Given the description of an element on the screen output the (x, y) to click on. 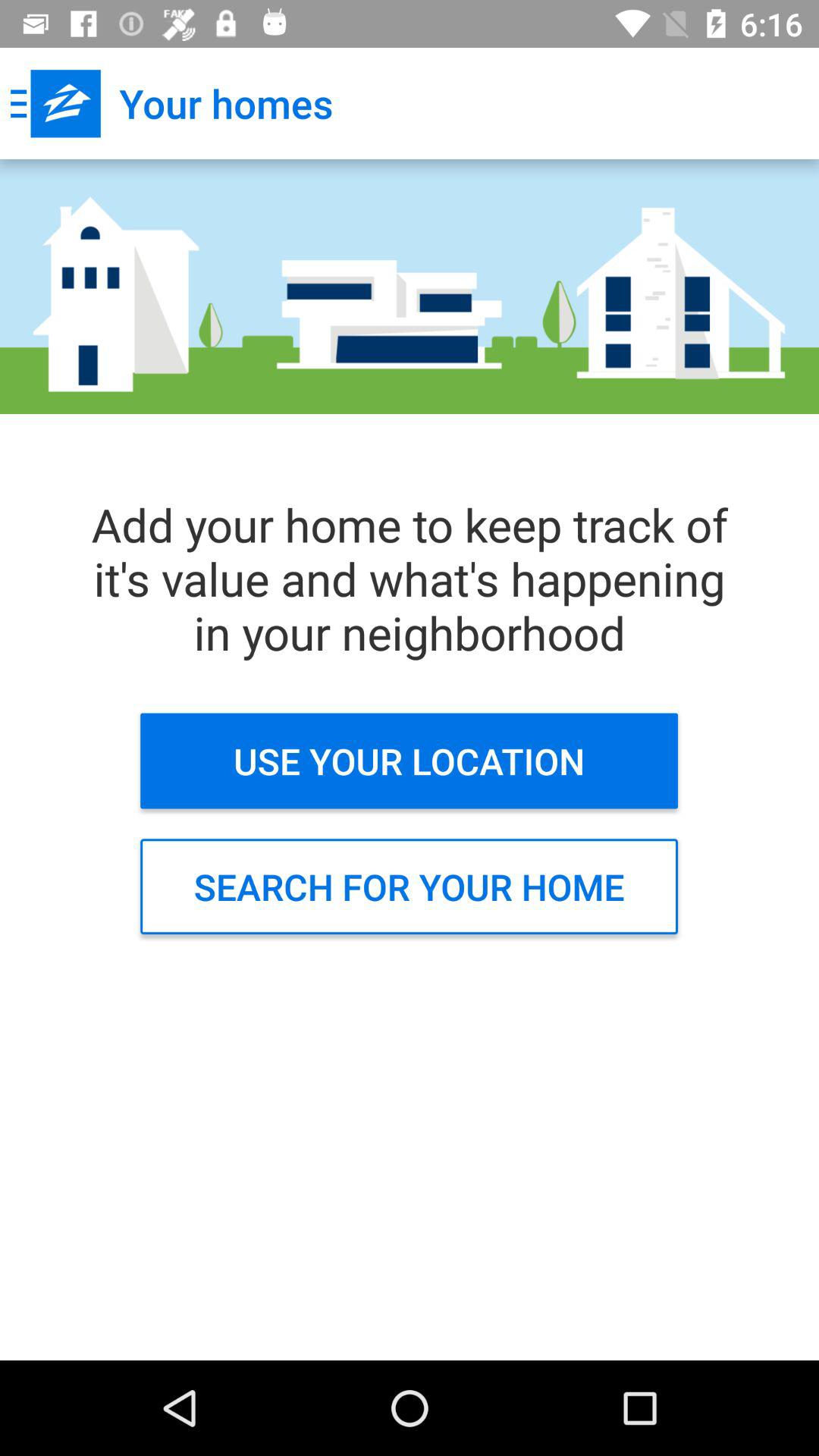
turn off the search for your icon (408, 886)
